Given the description of an element on the screen output the (x, y) to click on. 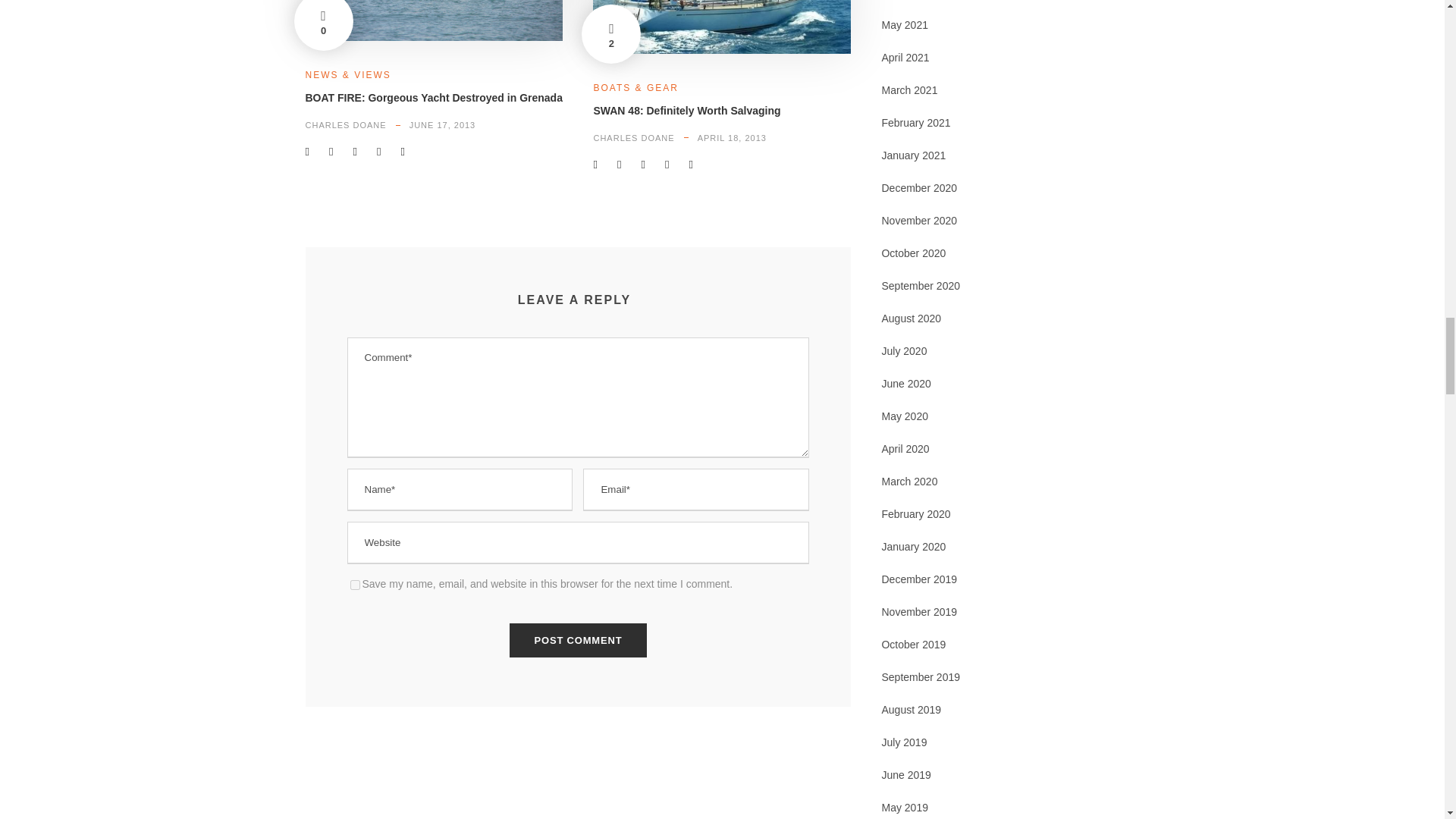
Swan 48 Avocation (721, 27)
Posts by Charles Doane (344, 124)
Burning yacht 1 (433, 20)
Post Comment (578, 640)
yes (354, 584)
Like this (323, 25)
